Given the description of an element on the screen output the (x, y) to click on. 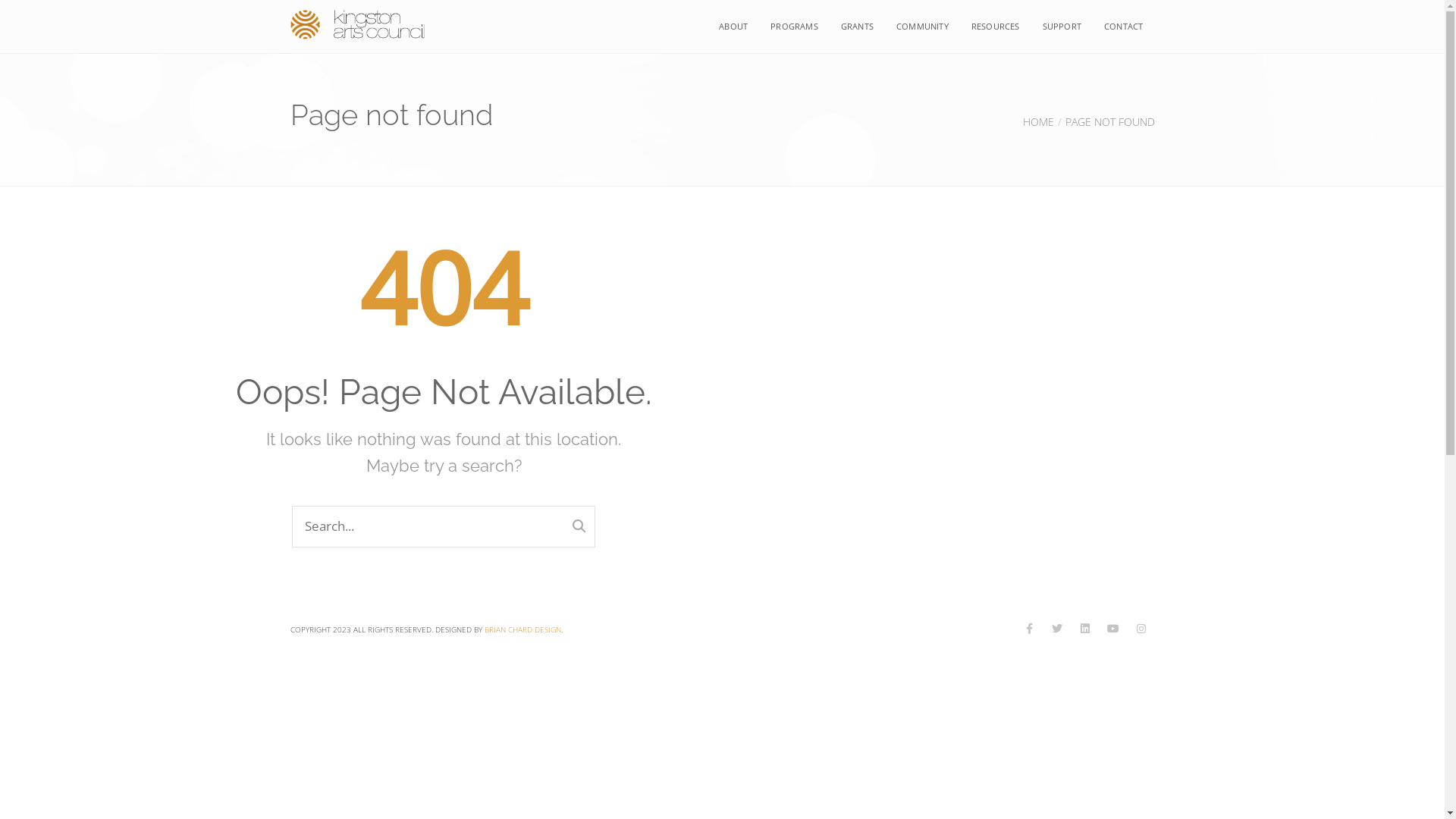
RESOURCES Element type: text (995, 26)
BRIAN CHARD DESIGN Element type: text (521, 629)
GRANTS Element type: text (856, 26)
SUPPORT Element type: text (1061, 26)
COMMUNITY Element type: text (922, 26)
ABOUT Element type: text (733, 26)
HOME Element type: text (1037, 121)
PROGRAMS Element type: text (794, 26)
CONTACT Element type: text (1123, 26)
